Given the description of an element on the screen output the (x, y) to click on. 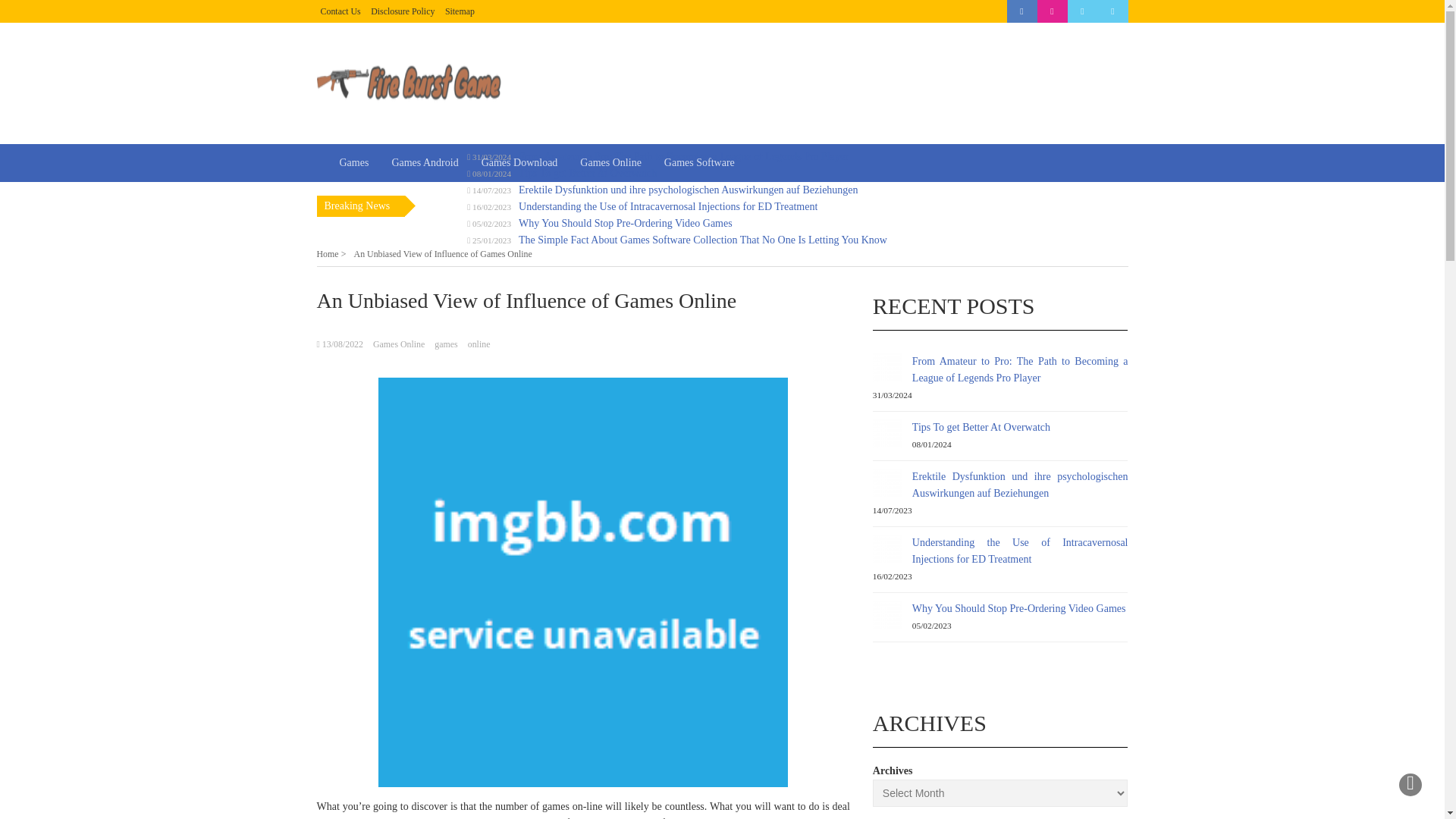
Games Download (519, 162)
Home (331, 253)
Tips To get Better At Overwatch (587, 173)
Games Android (424, 162)
Disclosure Policy (402, 10)
Sitemap (459, 10)
Contact Us (339, 10)
Games (353, 162)
Tips To get Better At Overwatch (980, 427)
Sitemap (459, 10)
games (445, 344)
